Given the description of an element on the screen output the (x, y) to click on. 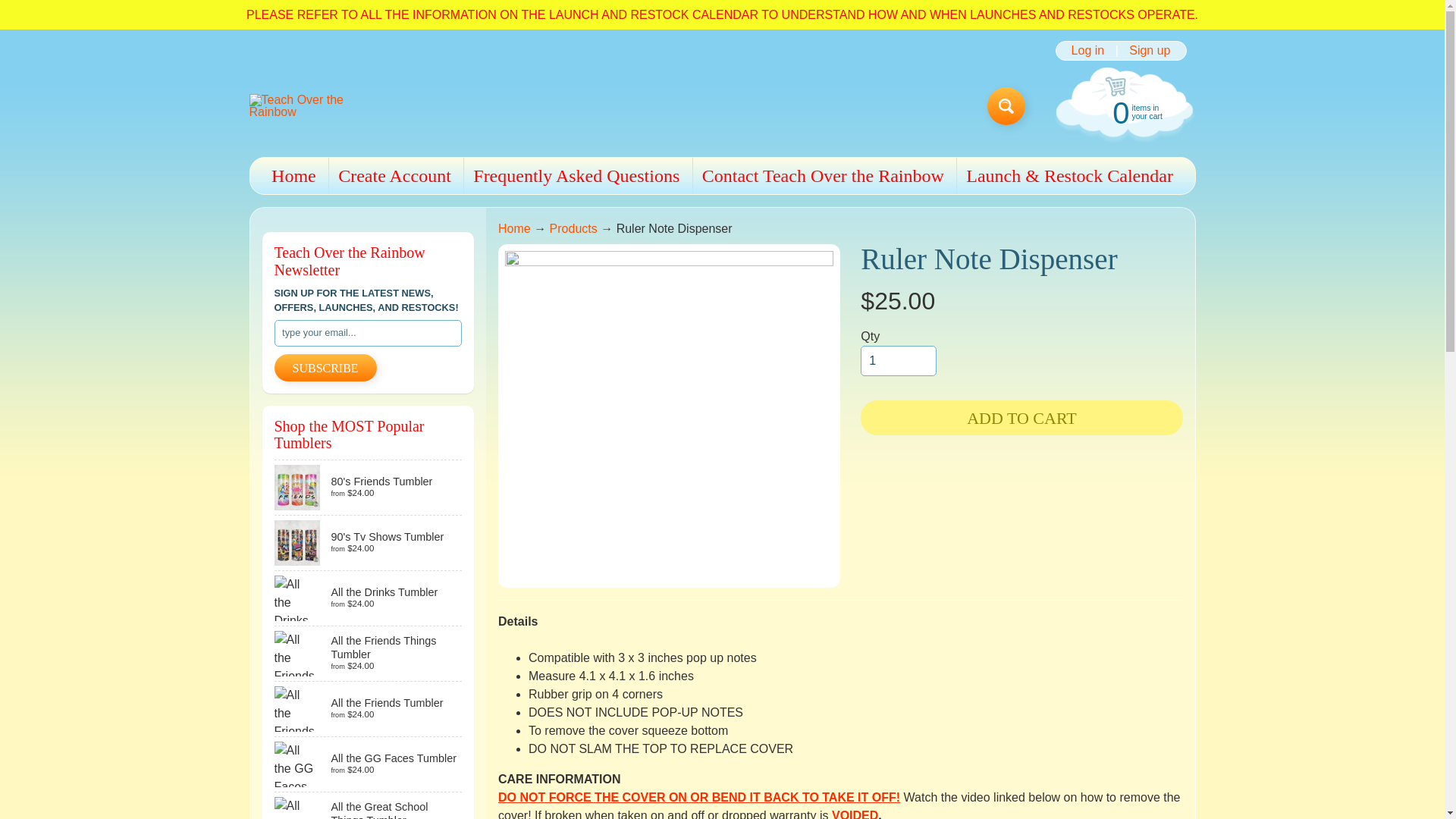
SEARCH (1006, 105)
All the Friends Tumbler (369, 708)
Log in (1088, 50)
All the Friends Things Tumbler (369, 653)
All the Great School Things Tumbler (1122, 111)
All the GG Faces Tumbler (369, 805)
SUBSCRIBE (369, 764)
SKIP TO CONTENT (326, 367)
Search (22, 8)
